Given the description of an element on the screen output the (x, y) to click on. 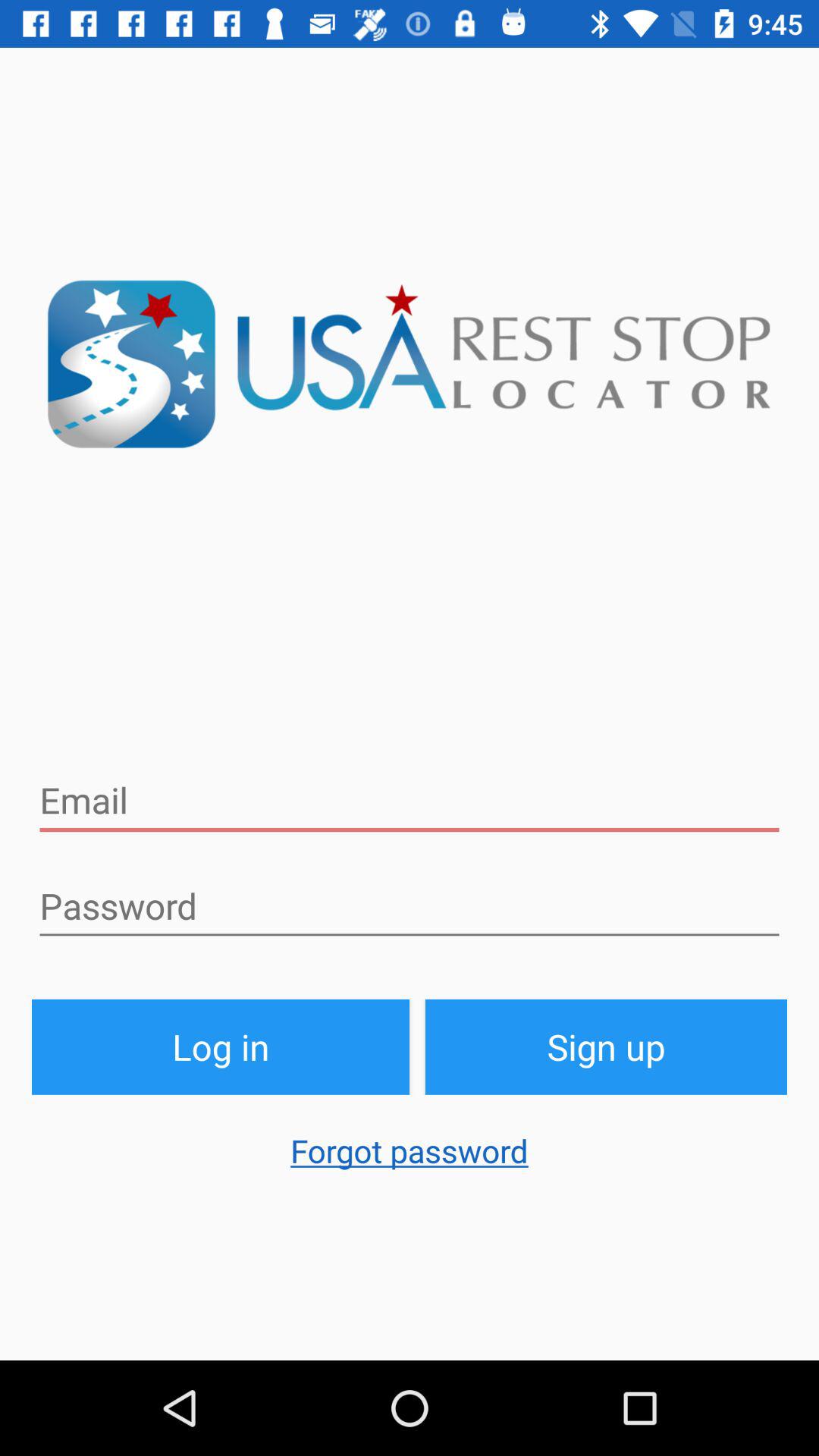
enter email (409, 800)
